Given the description of an element on the screen output the (x, y) to click on. 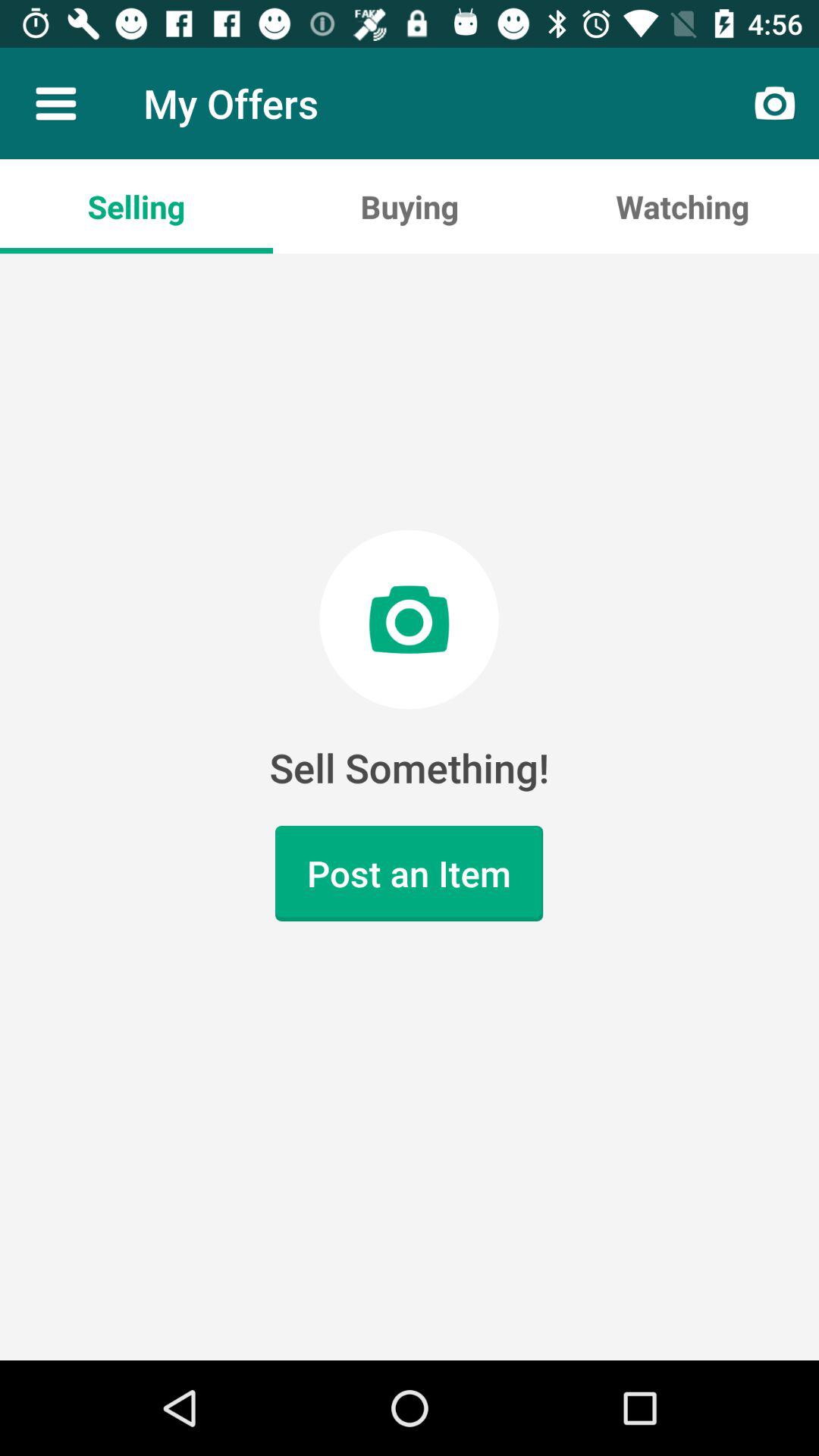
press the app to the left of watching item (409, 206)
